Given the description of an element on the screen output the (x, y) to click on. 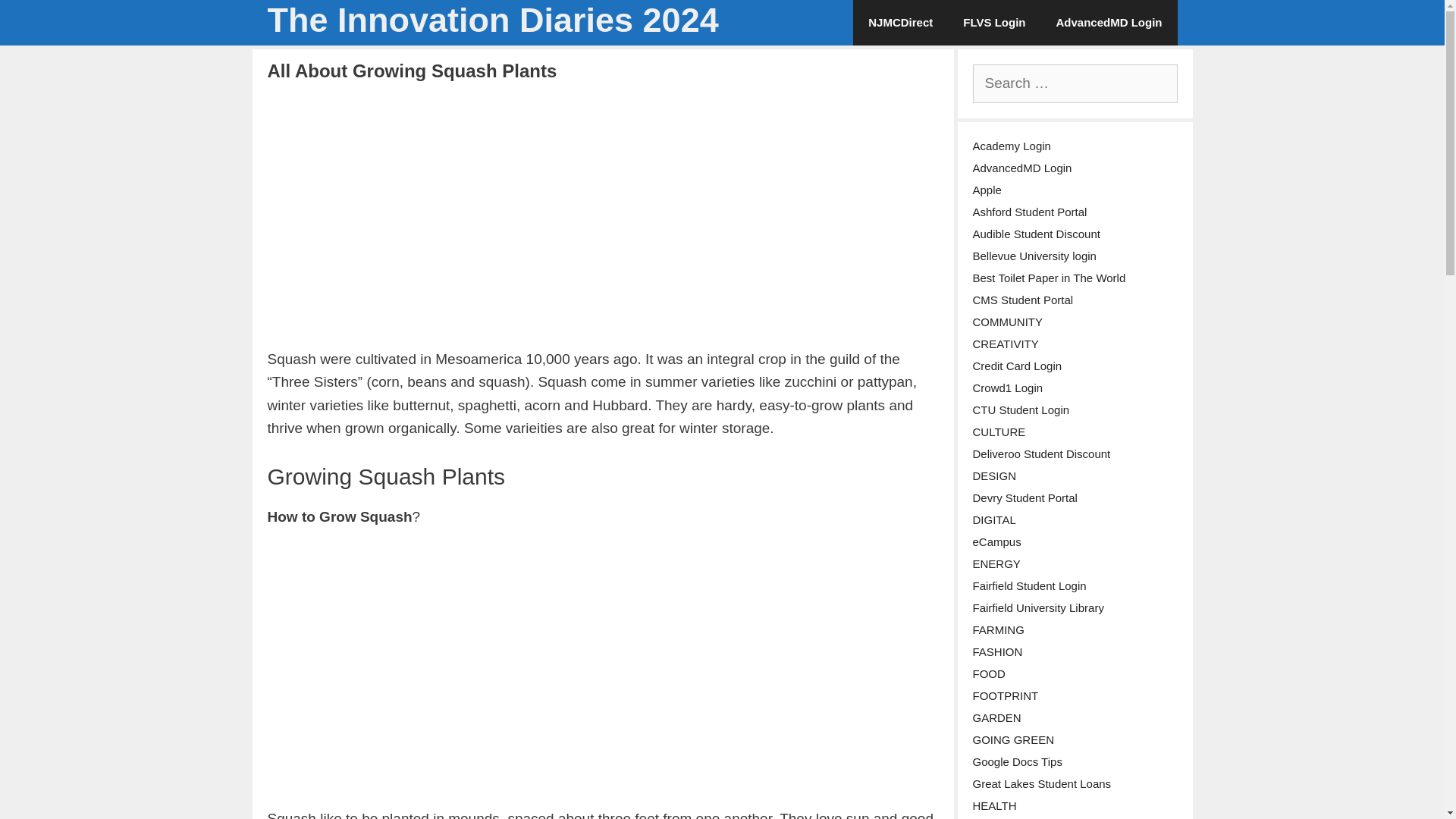
GARDEN (996, 717)
Audible Student Discount (1035, 233)
Ashford Student Portal (1029, 210)
HEALTH (994, 805)
AdvancedMD Login (1021, 166)
NJMCDirect (900, 22)
FOOTPRINT (1005, 694)
FLVS Login (994, 22)
CMS Student Portal (1022, 298)
GOING GREEN (1013, 738)
